Given the description of an element on the screen output the (x, y) to click on. 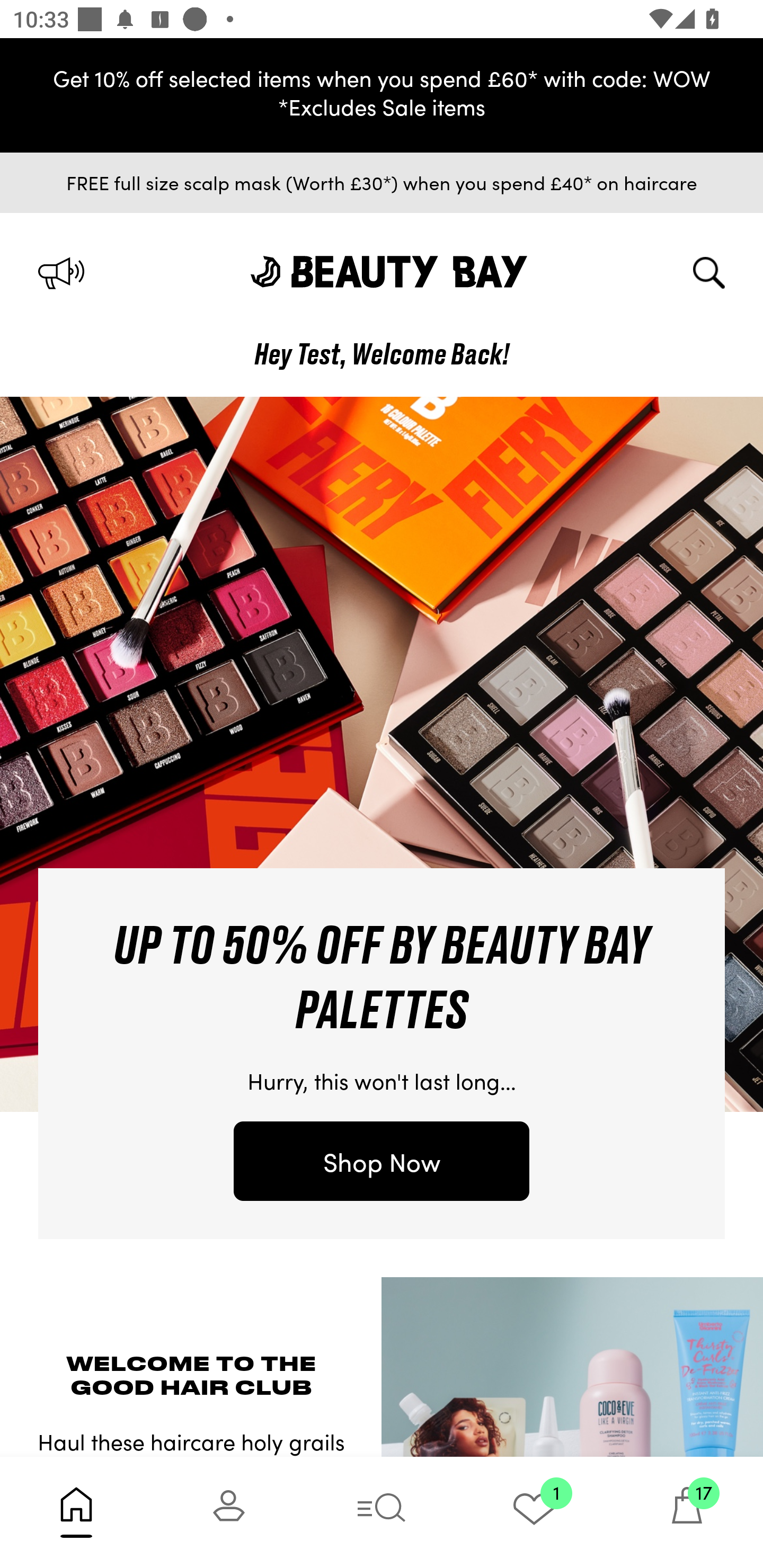
1 (533, 1512)
17 (686, 1512)
